Given the description of an element on the screen output the (x, y) to click on. 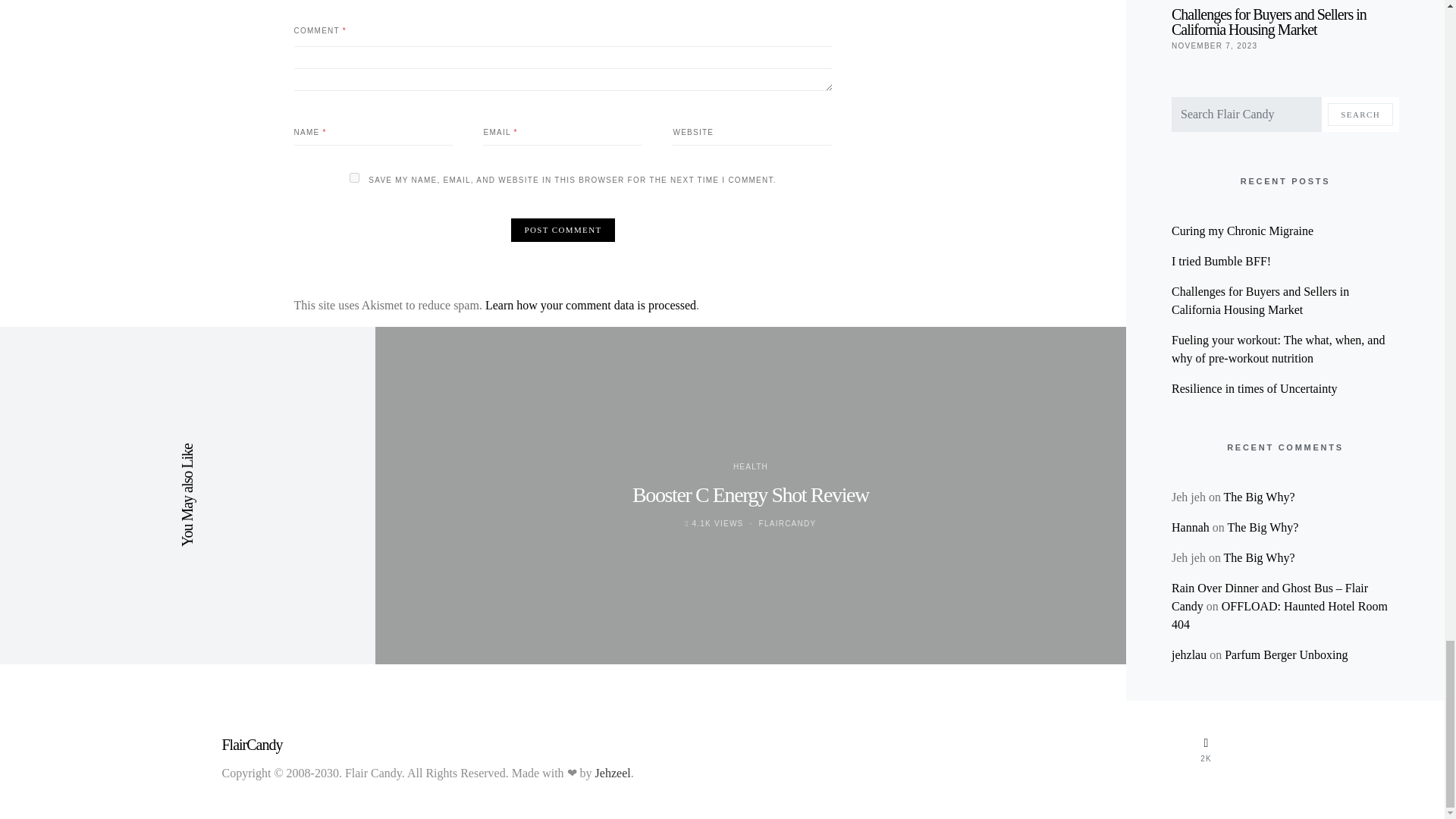
View all posts by flaircandy (787, 523)
yes (354, 177)
Post Comment (562, 229)
